Given the description of an element on the screen output the (x, y) to click on. 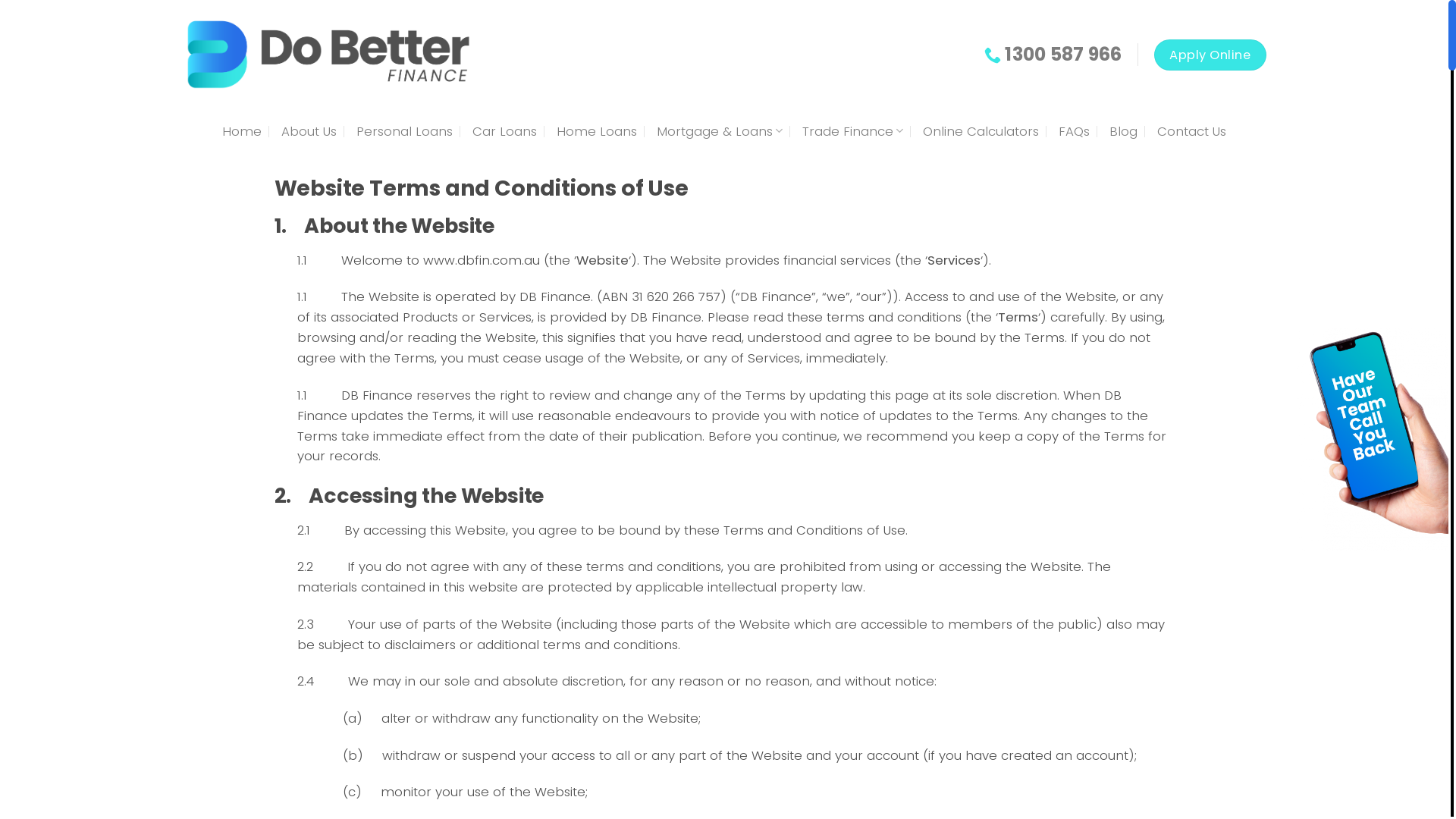
Personal Loans Element type: text (404, 130)
1300 587 966 Element type: text (1053, 54)
About Us Element type: text (308, 130)
Car Loans Element type: text (504, 130)
Home Element type: text (241, 130)
Home Loans Element type: text (596, 130)
Blog Element type: text (1123, 130)
Apply Online Element type: text (1210, 54)
Trade Finance Element type: text (852, 130)
FAQs Element type: text (1073, 130)
Online Calculators Element type: text (980, 130)
Mortgage & Loans Element type: text (719, 130)
Contact Us Element type: text (1191, 130)
